Given the description of an element on the screen output the (x, y) to click on. 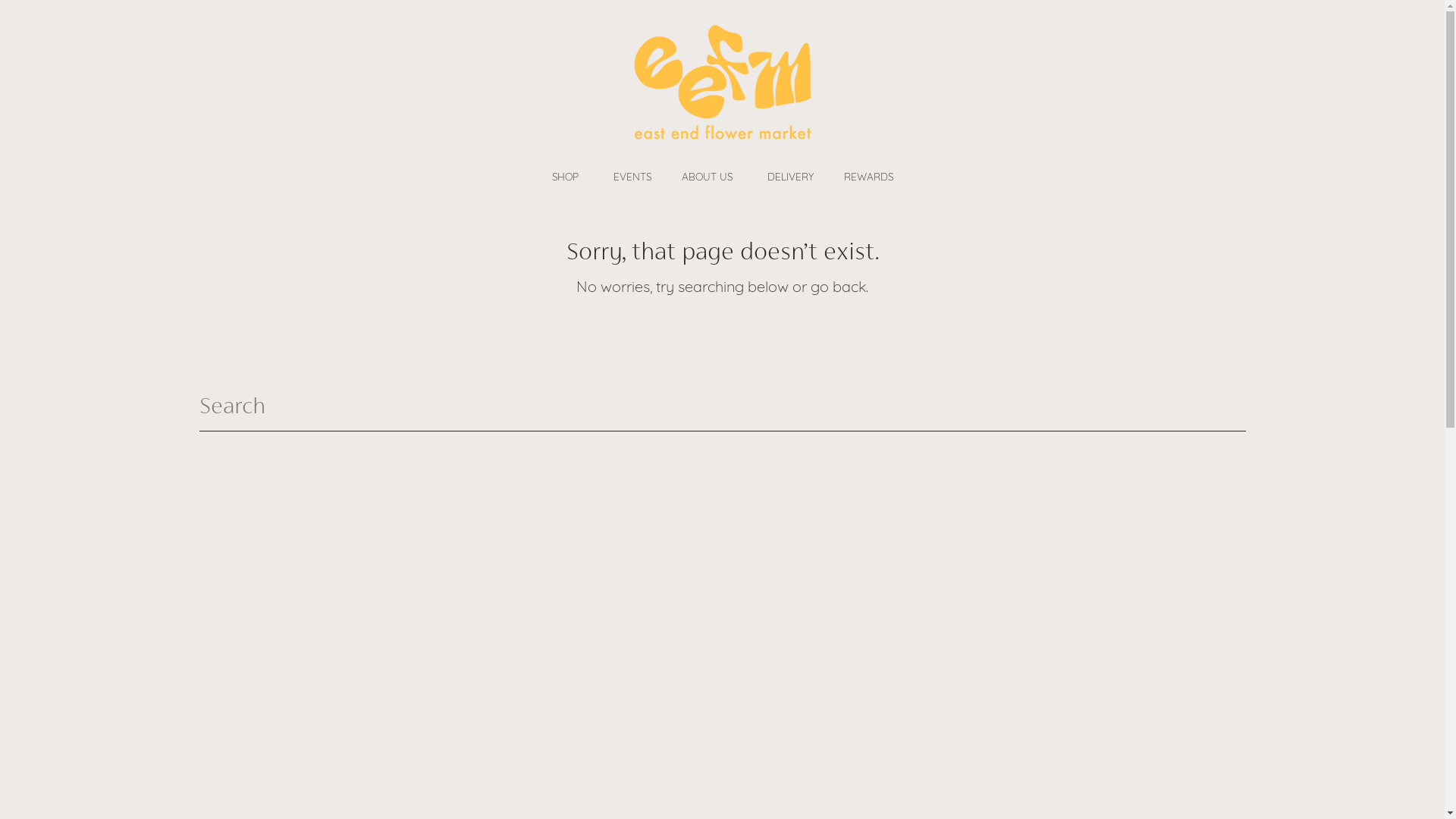
Login Element type: text (219, 85)
REWARDS Element type: text (867, 176)
SKIP TO CONTENT Element type: text (37, 21)
EVENTS Element type: text (631, 176)
SHOP Element type: text (567, 175)
ABOUT US Element type: text (708, 175)
DELIVERY Element type: text (790, 176)
Cart Element type: text (1232, 85)
